Given the description of an element on the screen output the (x, y) to click on. 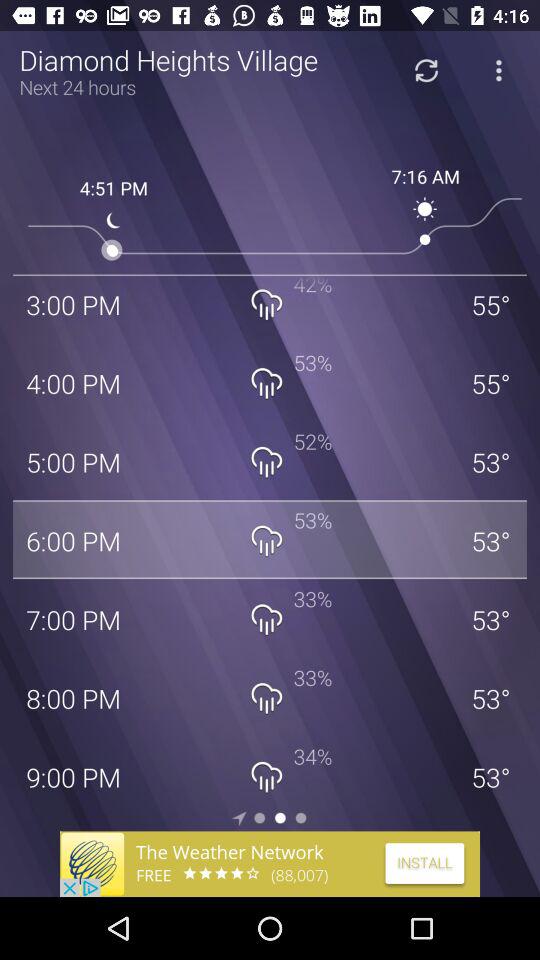
advertisement link (270, 864)
